Given the description of an element on the screen output the (x, y) to click on. 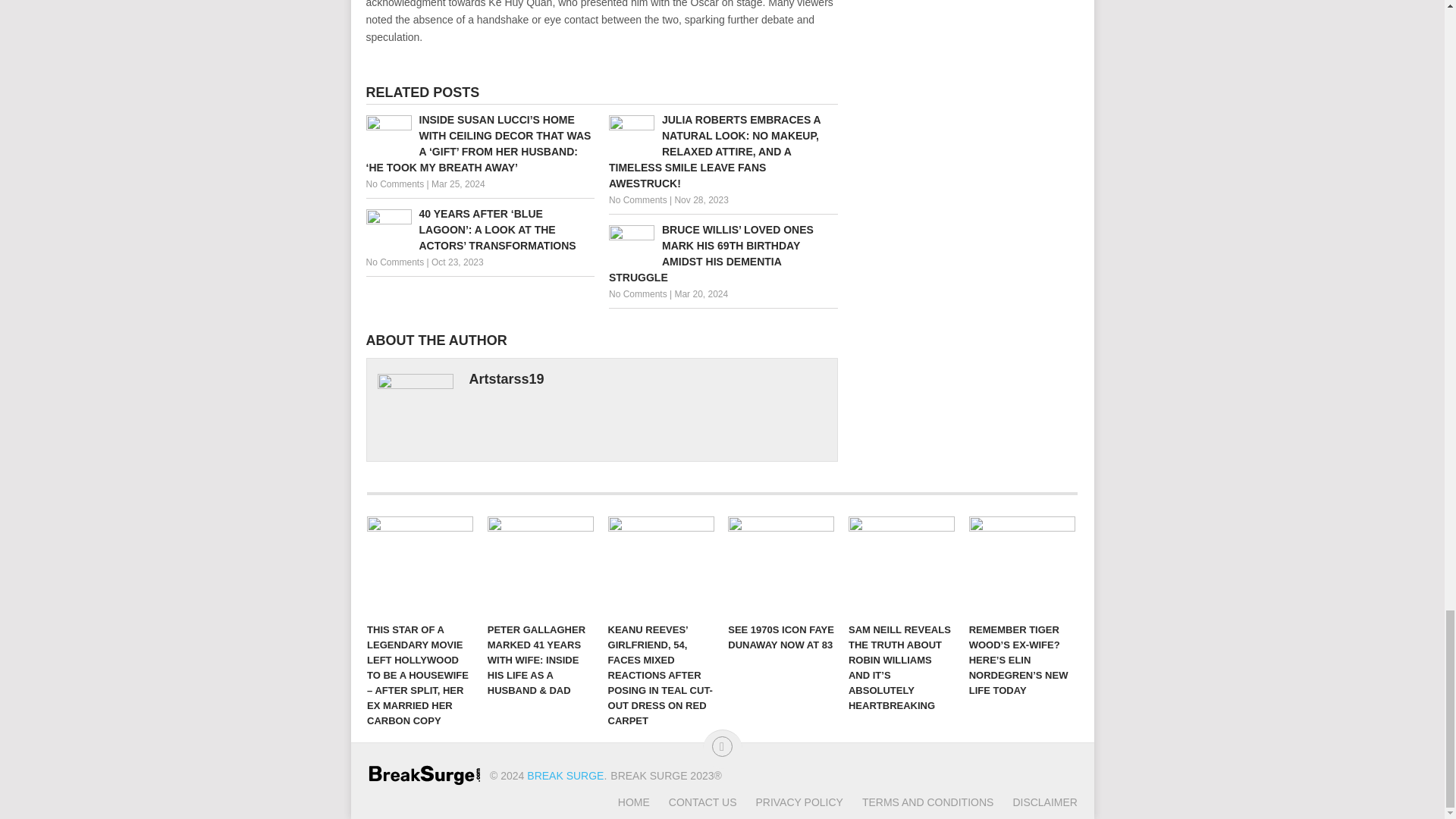
PRIVACY POLICY (789, 802)
BREAK SURGE (565, 775)
CONTACT US (692, 802)
No Comments (394, 184)
SEE 1970S ICON FAYE DUNAWAY NOW AT 83 (781, 565)
No Comments (637, 294)
No Comments (637, 199)
TERMS AND CONDITIONS (917, 802)
HOME (633, 802)
No Comments (394, 262)
